Given the description of an element on the screen output the (x, y) to click on. 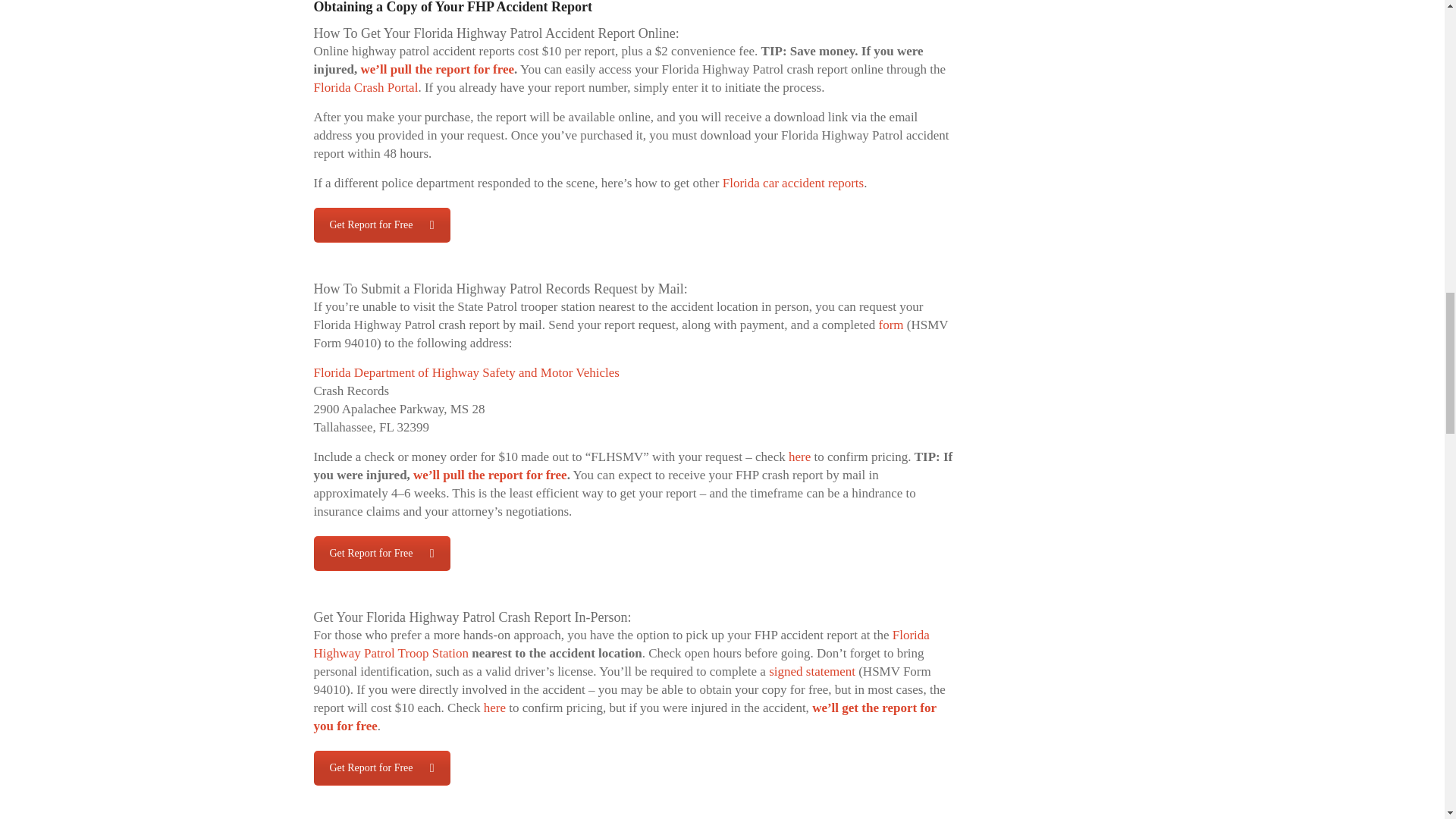
Contact Us (381, 553)
Contact Us (381, 225)
Contact Us (381, 768)
